Given the description of an element on the screen output the (x, y) to click on. 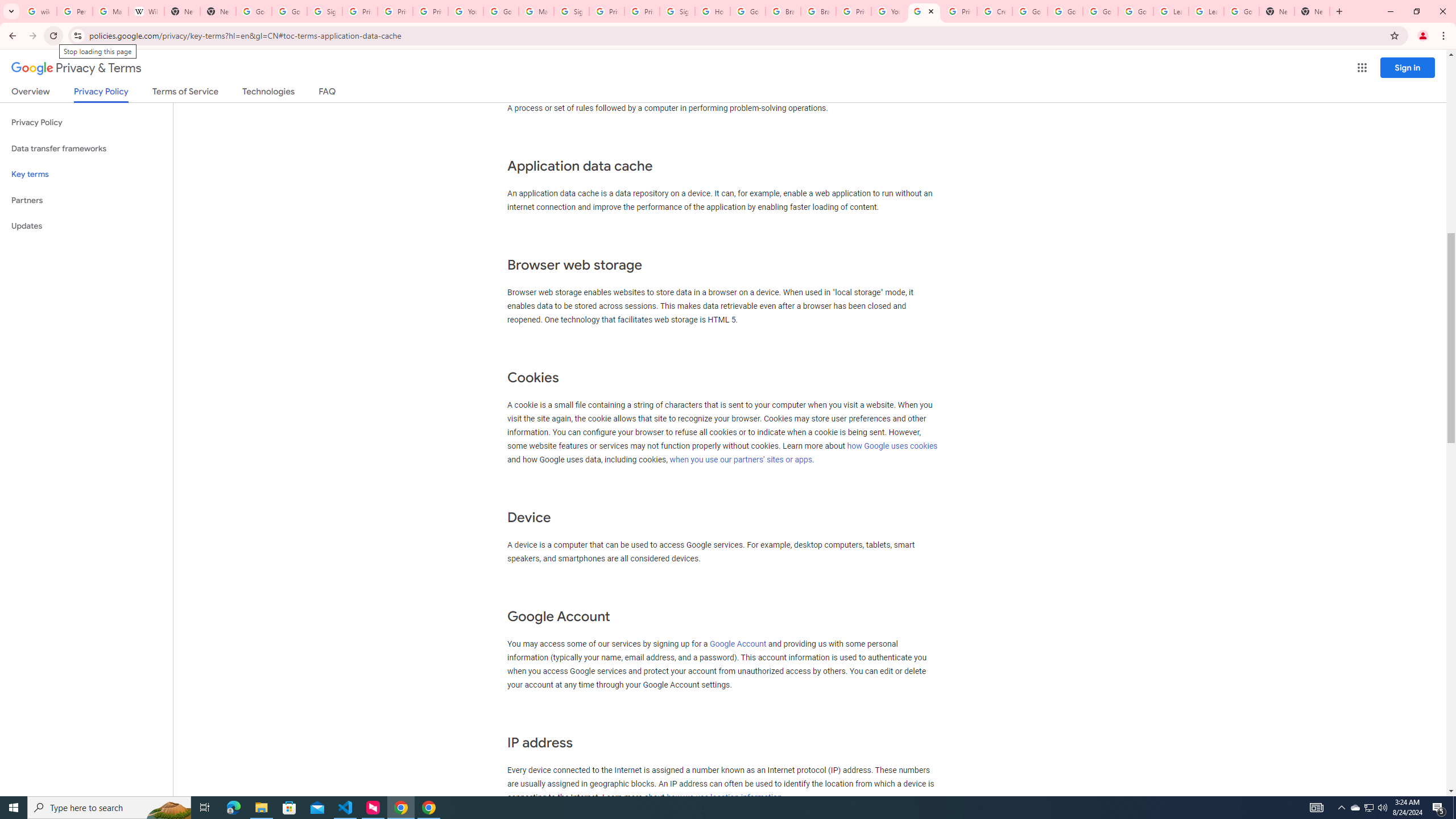
how Google uses cookies (892, 445)
Sign in - Google Accounts (324, 11)
